Given the description of an element on the screen output the (x, y) to click on. 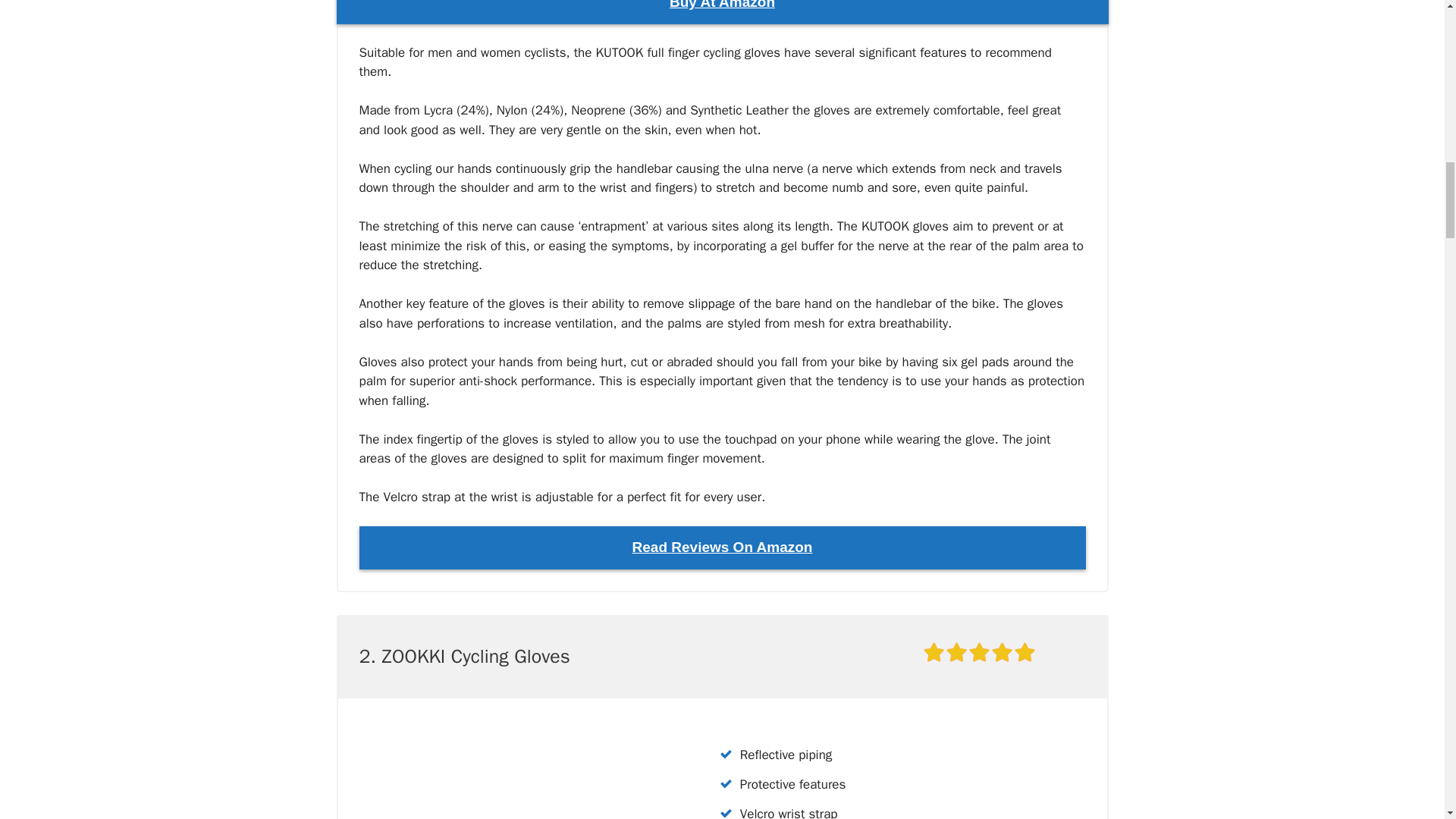
cycle-gloves-2 (512, 775)
Buy At Amazon (722, 12)
Read Reviews On Amazon (722, 547)
